Given the description of an element on the screen output the (x, y) to click on. 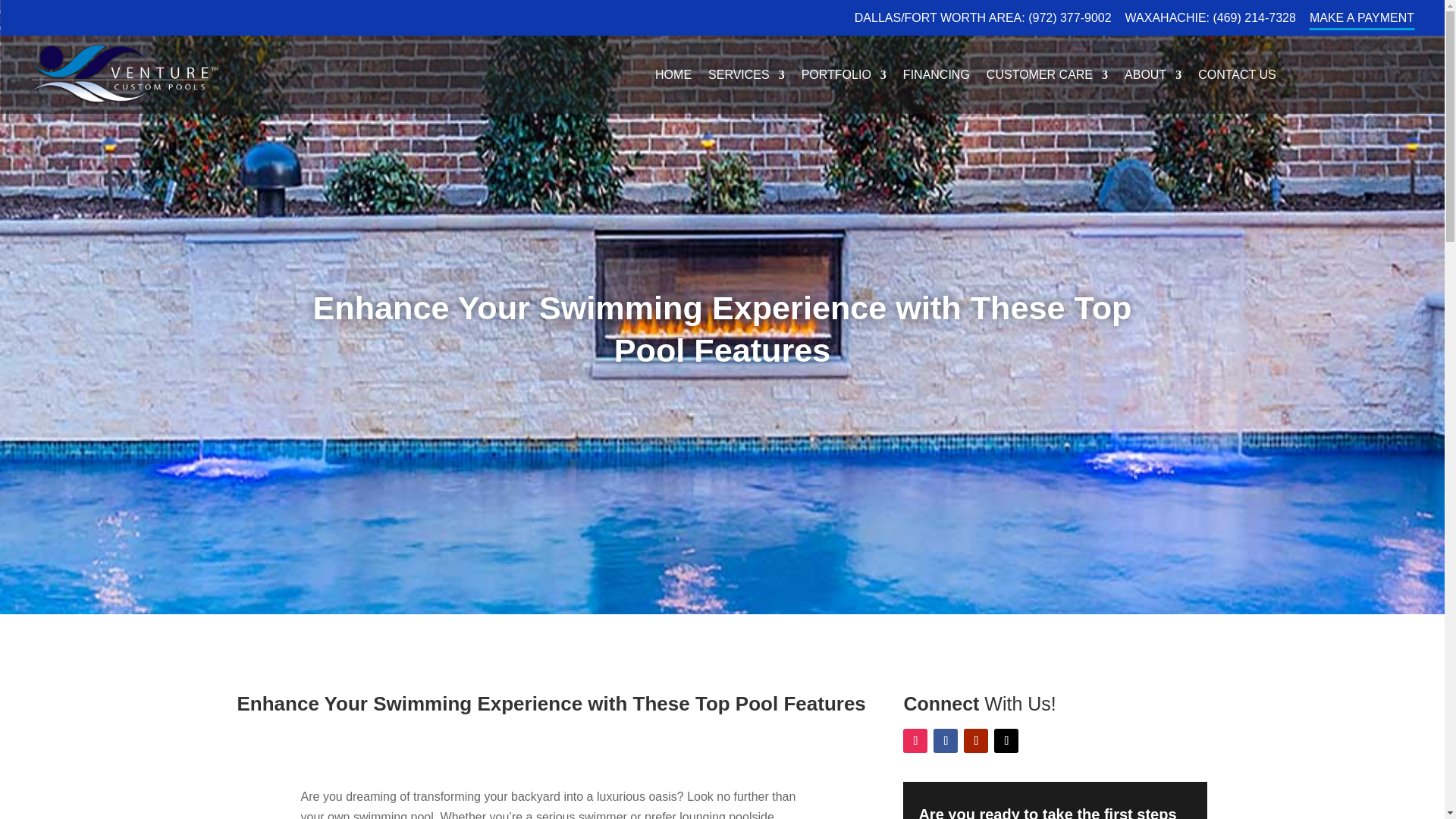
Follow on Facebook (945, 740)
Follow on X (1005, 740)
Follow on Instagram (914, 740)
logo-TM (124, 74)
HOME (673, 77)
FINANCING (935, 77)
ABOUT (1152, 77)
SERVICES (745, 77)
Follow on Youtube (975, 740)
CUSTOMER CARE (1047, 77)
